Given the description of an element on the screen output the (x, y) to click on. 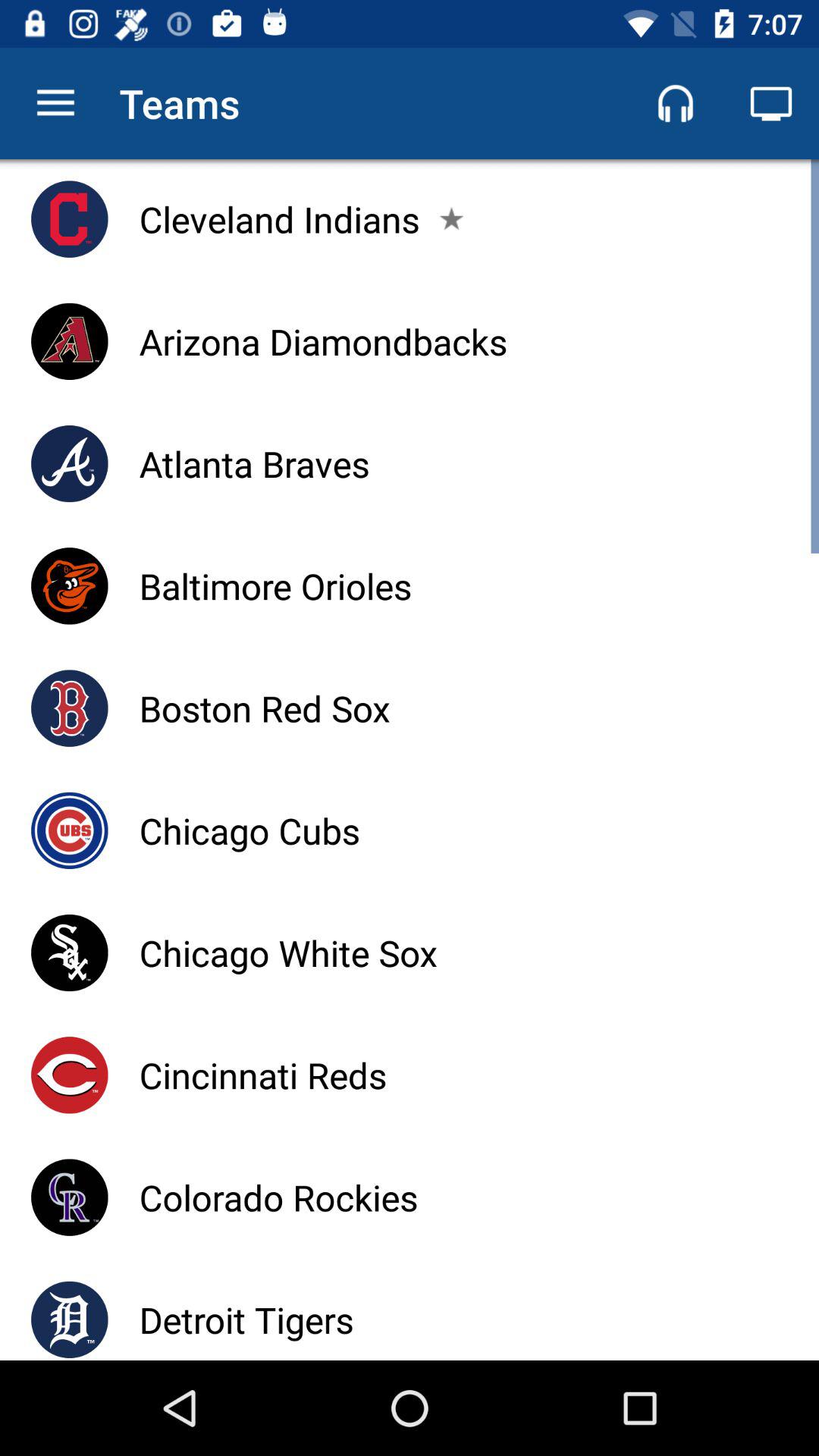
jump to the arizona diamondbacks item (323, 341)
